Given the description of an element on the screen output the (x, y) to click on. 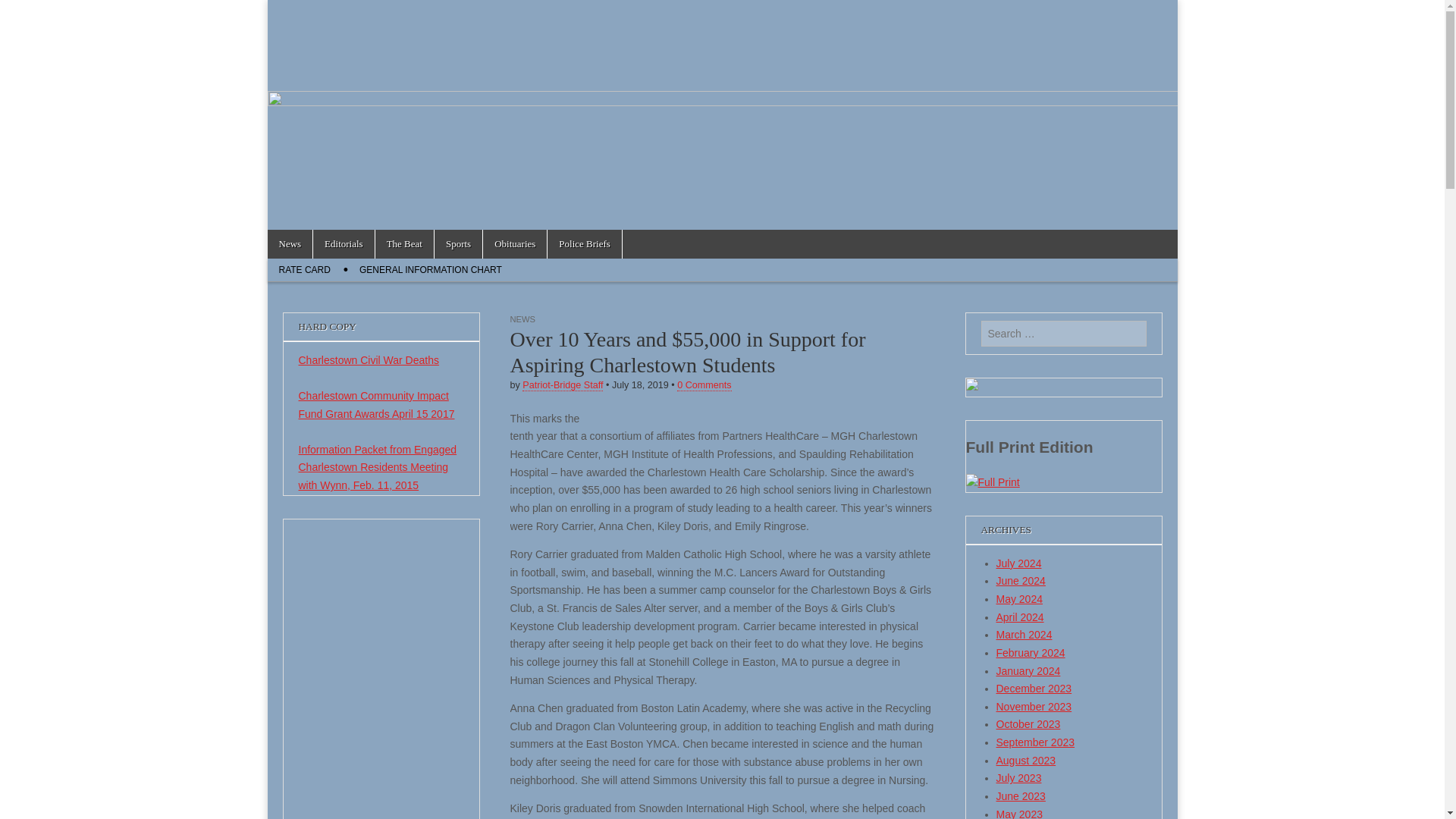
0 Comments (703, 385)
Editorials (343, 244)
Search (23, 12)
RATE CARD (303, 269)
News (289, 244)
NEWS (522, 318)
Sports (457, 244)
Police Briefs (584, 244)
Patriot-Bridge Staff (562, 385)
Posts by Patriot-Bridge Staff (562, 385)
GENERAL INFORMATION CHART (430, 269)
The Beat (404, 244)
